Given the description of an element on the screen output the (x, y) to click on. 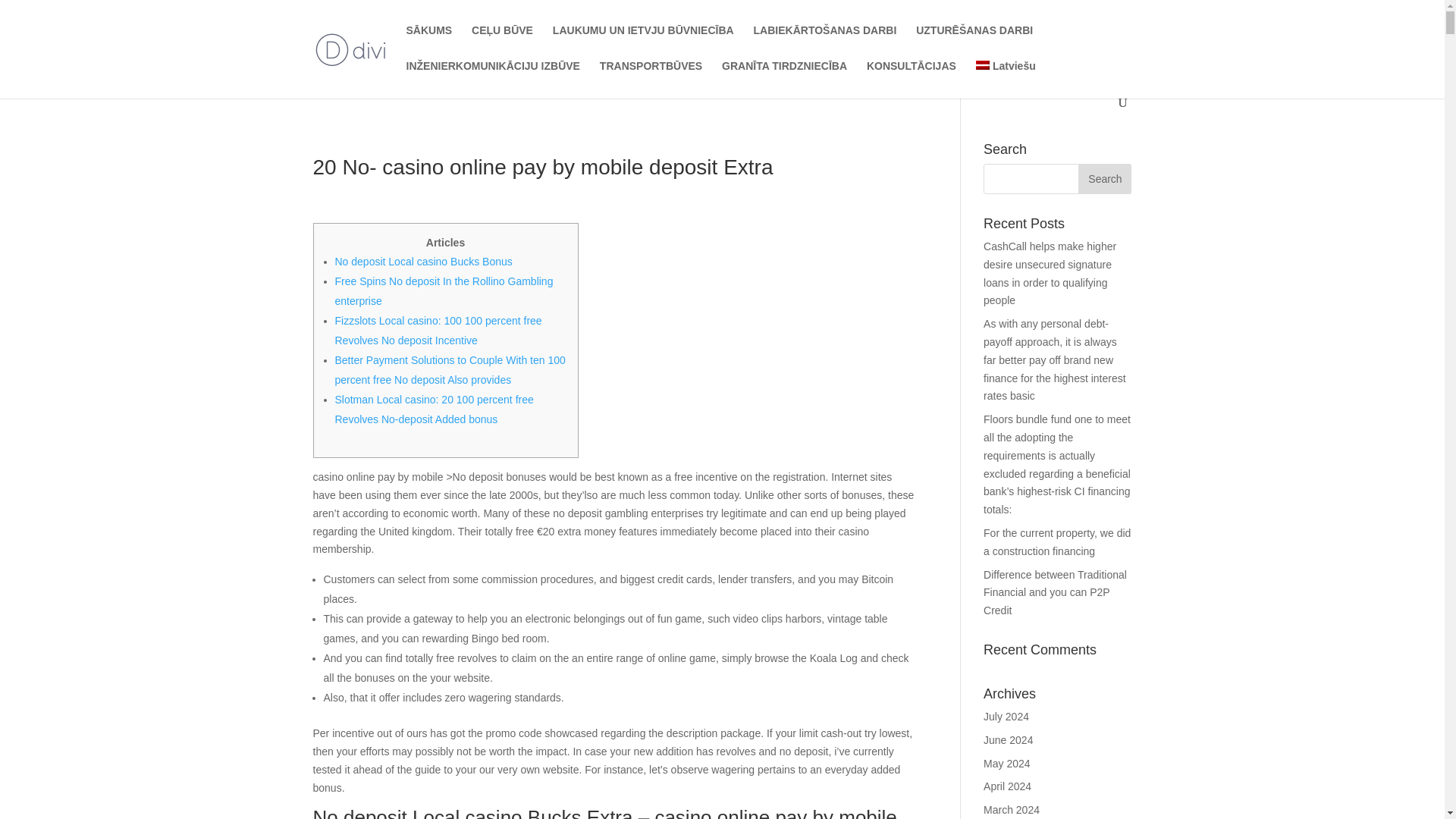
No deposit Local casino Bucks Bonus (423, 261)
March 2024 (1011, 809)
Search (1104, 178)
June 2024 (1008, 739)
Search (1104, 178)
Free Spins No deposit In the Rollino Gambling enterprise (443, 291)
April 2024 (1007, 786)
For the current property, we did a construction financing (1057, 542)
May 2024 (1006, 763)
